Given the description of an element on the screen output the (x, y) to click on. 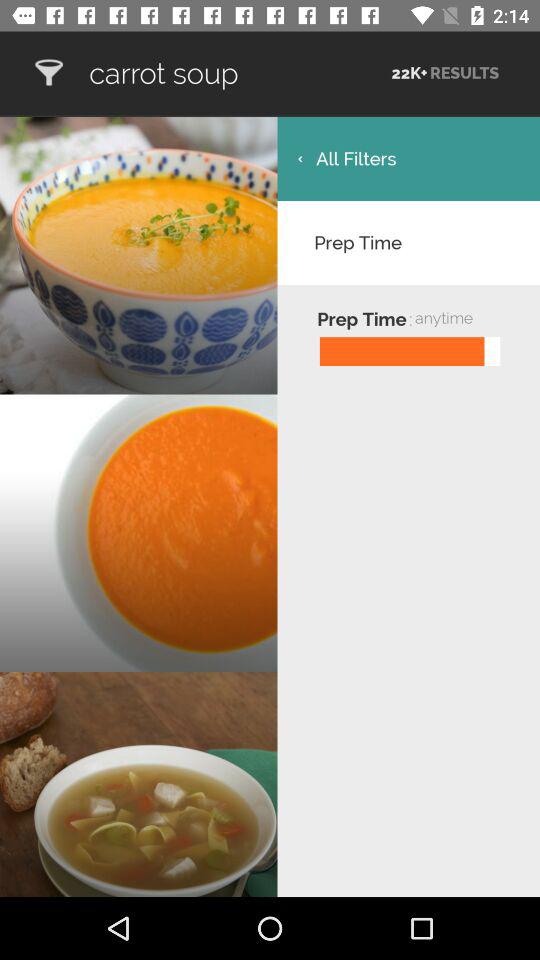
scroll until all filters (408, 158)
